Given the description of an element on the screen output the (x, y) to click on. 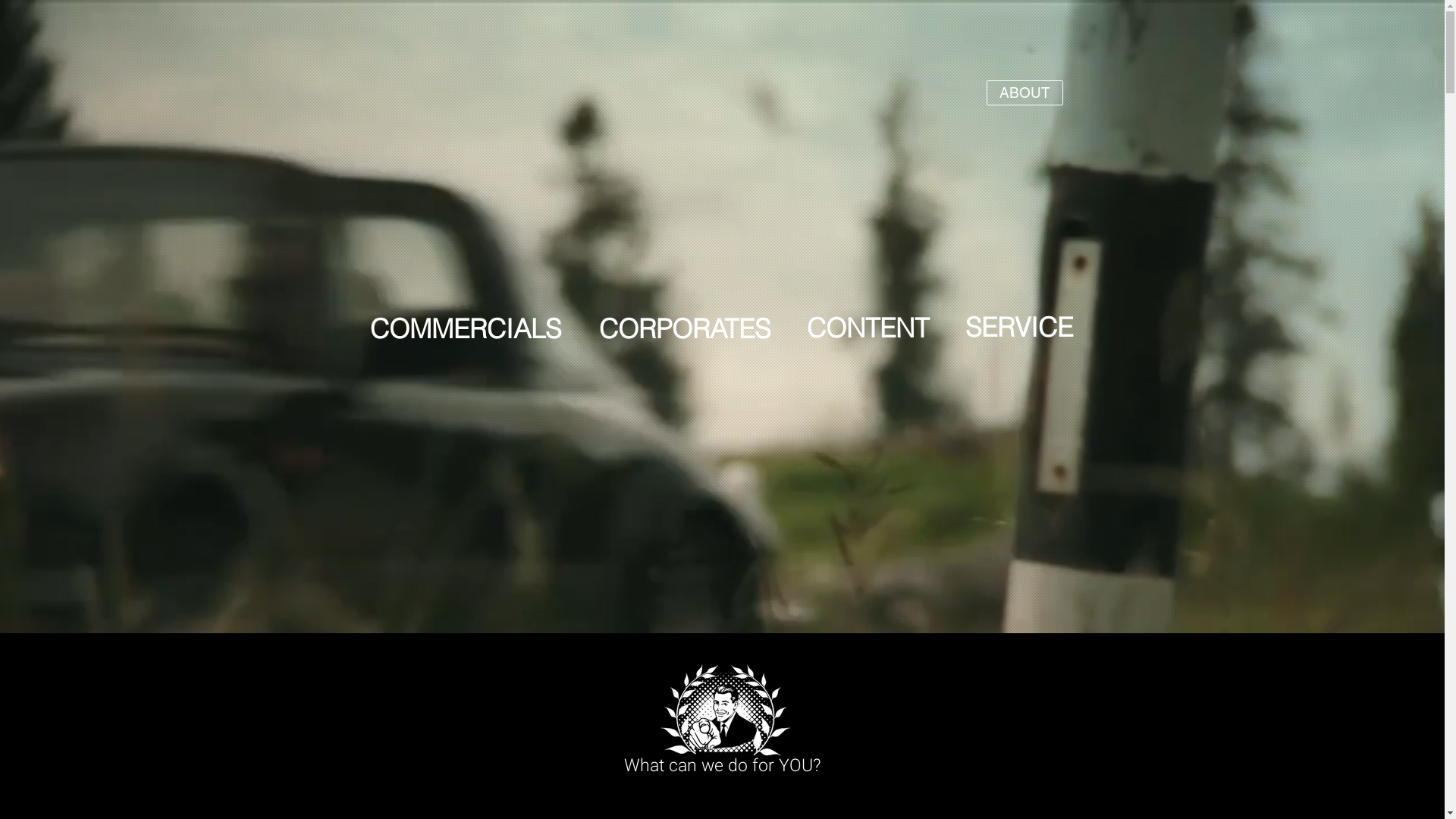
SERVICE Element type: text (1019, 326)
CONTENT Element type: text (867, 327)
COMMERCIALS Element type: text (465, 328)
CORPORATES Element type: text (683, 328)
ABOUT Element type: text (1023, 92)
